Given the description of an element on the screen output the (x, y) to click on. 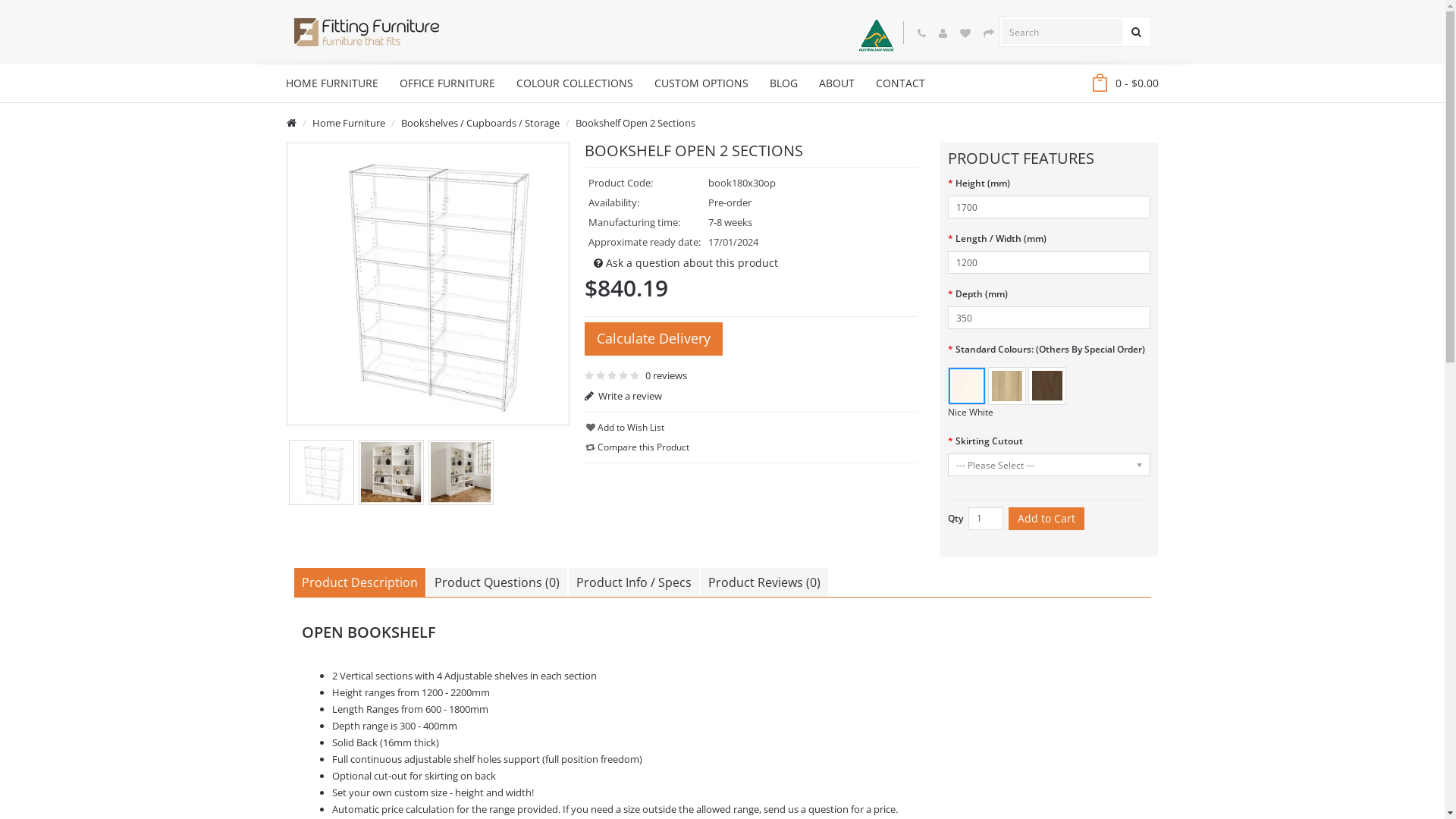
Bookshelf Open 2 Sections   Element type: hover (459, 472)
Light Wood Element type: hover (1007, 385)
Product Description Element type: text (359, 581)
Bookshelf Open 2 Sections   Element type: hover (460, 472)
COLOUR COLLECTIONS Element type: text (574, 83)
0 reviews Element type: text (664, 375)
Bookshelf Open 2 Sections   Element type: hover (320, 472)
OFFICE FURNITURE Element type: text (446, 83)
Wish List (0) Element type: hover (965, 33)
Home Furniture Element type: text (348, 122)
Product Info / Specs Element type: text (633, 581)
Add to Cart Element type: text (1046, 518)
Bookshelf Open 2 Sections   Element type: hover (390, 472)
1300 835 841 Element type: hover (921, 33)
My Account Element type: hover (942, 33)
Bookshelf Open 2 Sections   Element type: hover (390, 472)
BLOG Element type: text (782, 83)
Product Questions (0) Element type: text (496, 581)
Ask a question about this product Element type: text (685, 262)
Calculate Delivery Element type: text (653, 338)
CUSTOM OPTIONS Element type: text (700, 83)
Bookshelf Open 2 Sections   Element type: hover (426, 283)
Compare this Product Element type: text (636, 447)
HOME FURNITURE Element type: text (331, 83)
 Write a review Element type: text (750, 395)
Chocolate Wood Element type: hover (1047, 385)
0 - $0.00 Element type: text (1124, 84)
Nice White Element type: hover (966, 385)
Bookshelf Open 2 Sections   Element type: hover (427, 283)
ABOUT Element type: text (836, 83)
Add to Wish List Element type: text (624, 427)
CONTACT Element type: text (899, 83)
Fitting Furniture Element type: hover (366, 32)
Checkout Element type: hover (987, 33)
Product Reviews (0) Element type: text (764, 581)
Bookshelf Open 2 Sections Element type: text (634, 122)
Bookshelf Open 2 Sections   Element type: hover (321, 472)
Bookshelves / Cupboards / Storage Element type: text (479, 122)
